Given the description of an element on the screen output the (x, y) to click on. 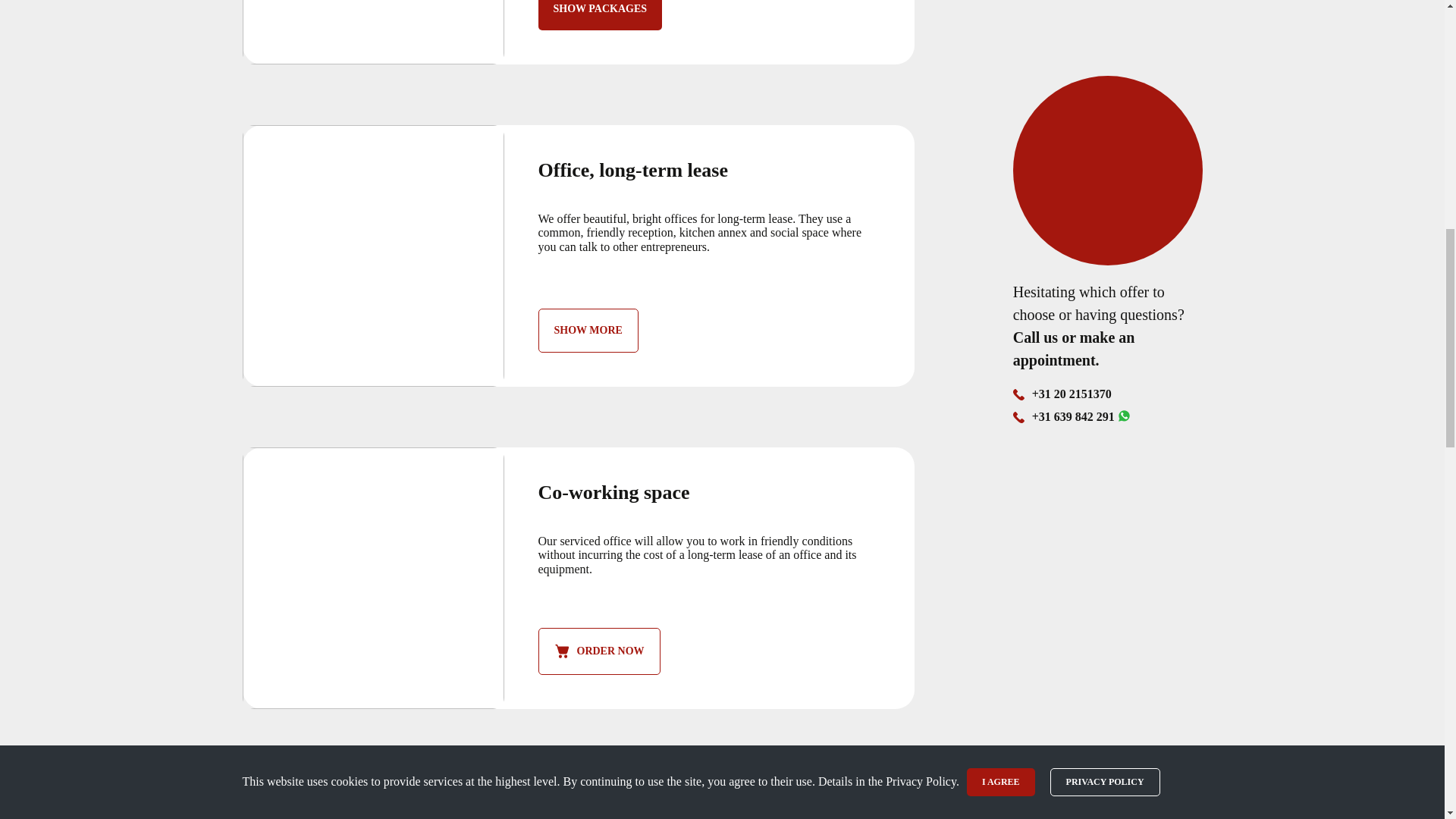
About us (1193, 29)
ORDER NOW (599, 651)
SHOW PACKAGES (600, 15)
SHOW MORE (588, 330)
